Given the description of an element on the screen output the (x, y) to click on. 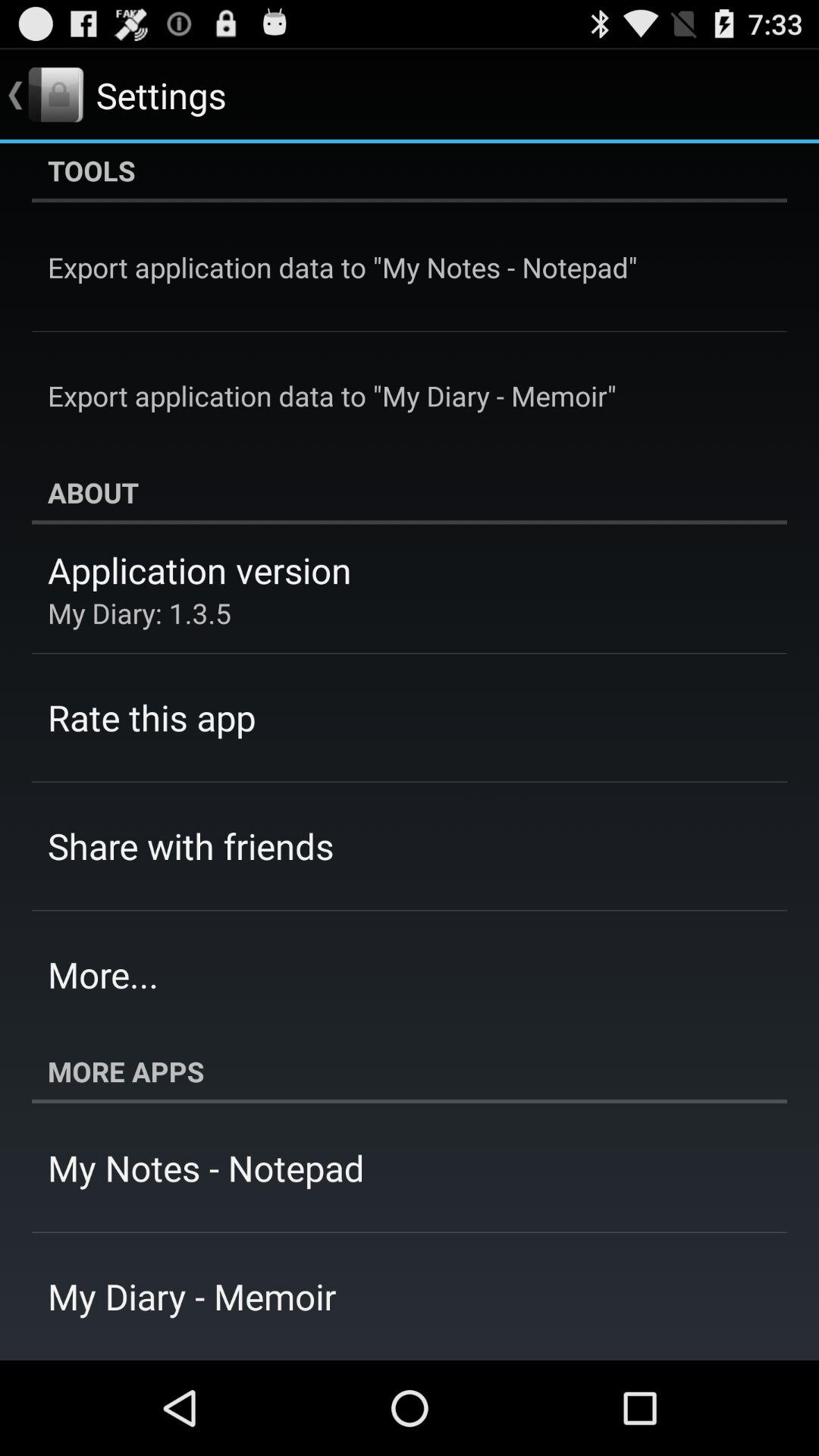
scroll until rate this app (151, 717)
